Given the description of an element on the screen output the (x, y) to click on. 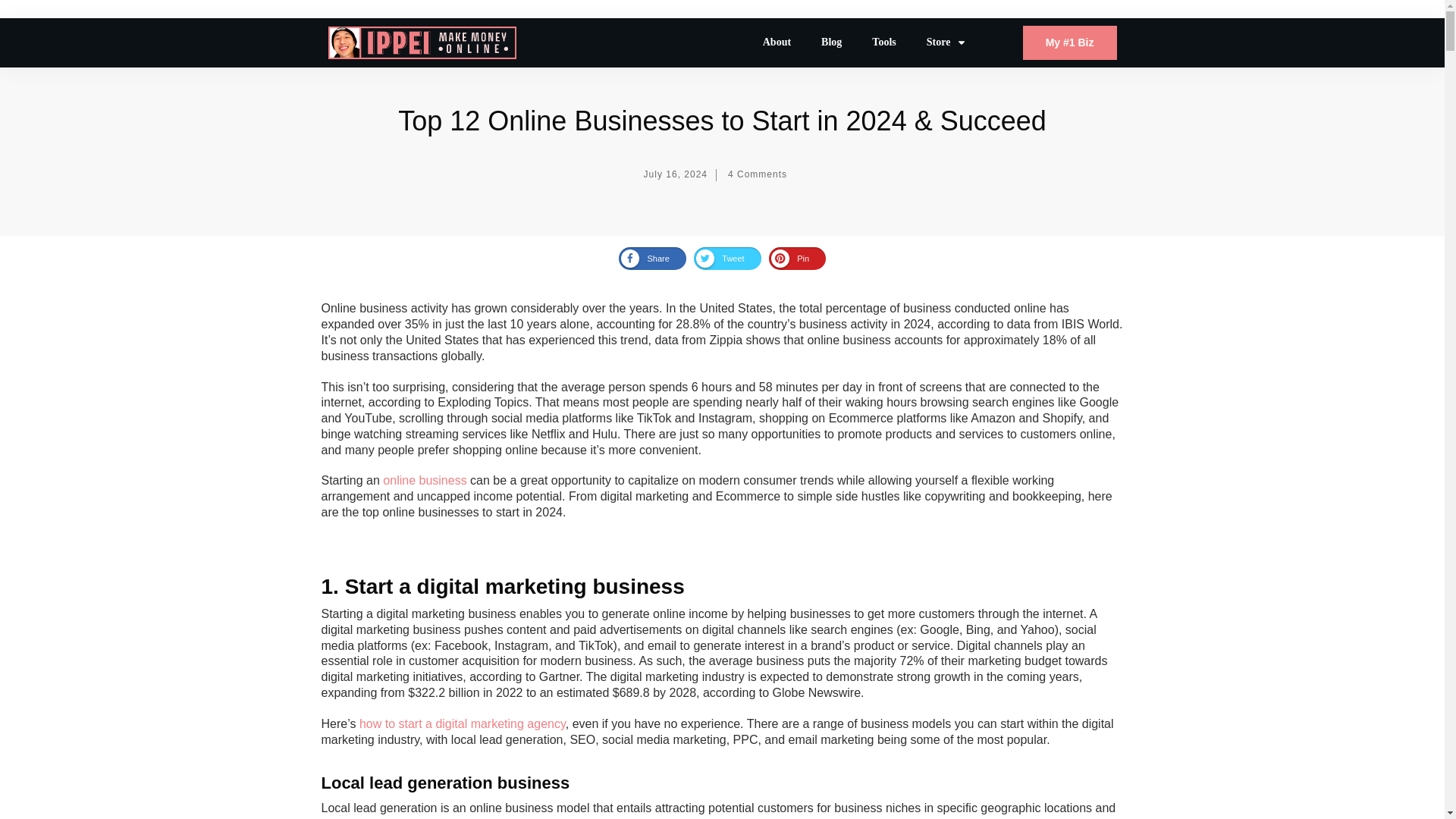
how to start a digital marketing agency (462, 723)
Store (947, 42)
Share (645, 259)
online business (423, 480)
Blog (831, 42)
Pin (790, 259)
About (776, 42)
Tools (883, 42)
Tweet (719, 259)
